Given the description of an element on the screen output the (x, y) to click on. 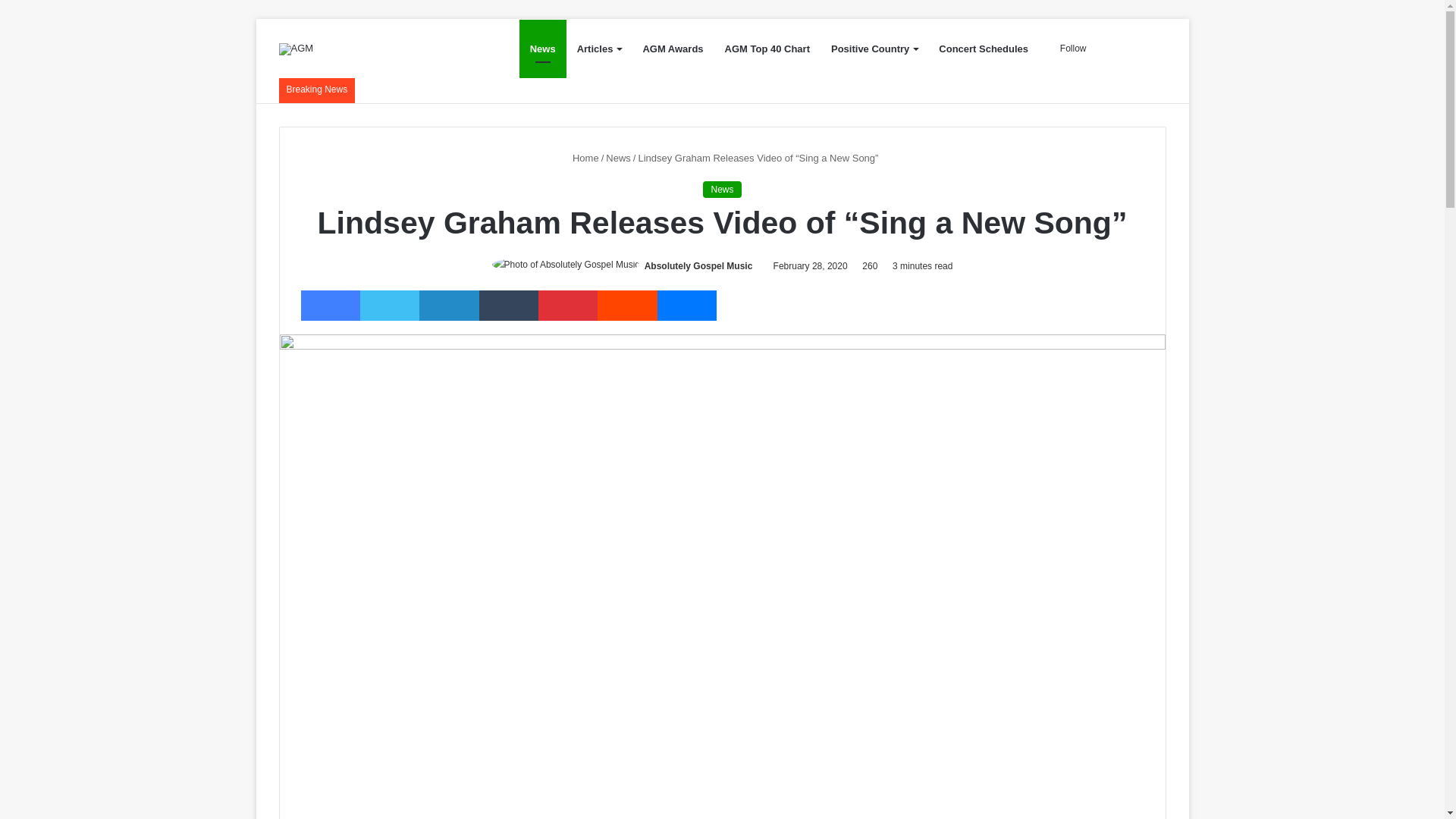
Twitter (389, 305)
Tumblr (508, 305)
Log In (1109, 48)
News (542, 48)
Facebook (329, 305)
Follow (1068, 48)
Sidebar (1131, 48)
LinkedIn (449, 305)
Articles (598, 48)
Pinterest (567, 305)
AGM Awards (672, 48)
Messenger (687, 305)
Search for (1154, 48)
Positive Country (874, 48)
Reddit (626, 305)
